Given the description of an element on the screen output the (x, y) to click on. 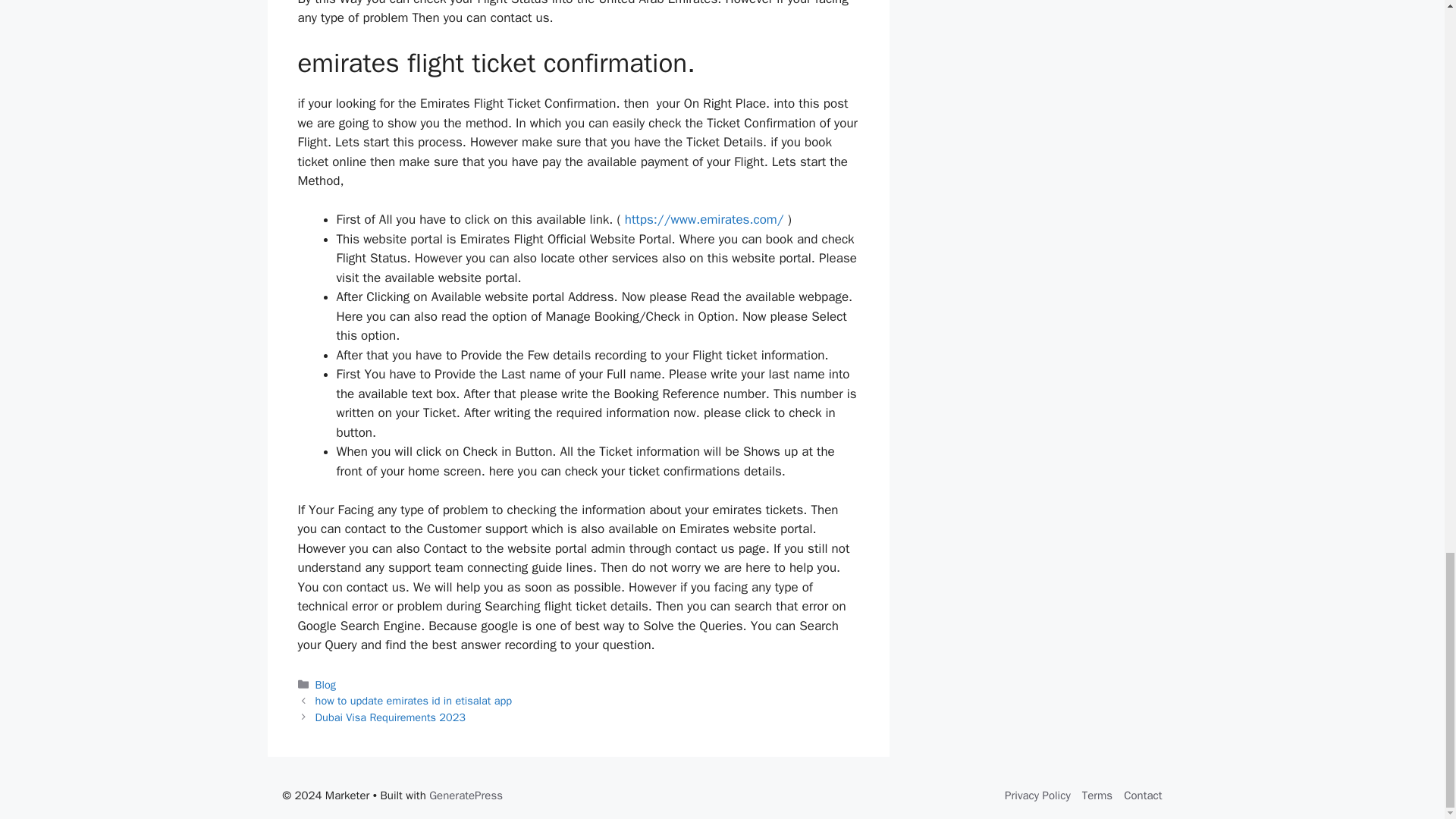
Contact (1142, 795)
Blog (325, 684)
GeneratePress (465, 795)
Privacy Policy (1037, 795)
Dubai Visa Requirements 2023 (390, 716)
how to update emirates id in etisalat app (413, 700)
